Given the description of an element on the screen output the (x, y) to click on. 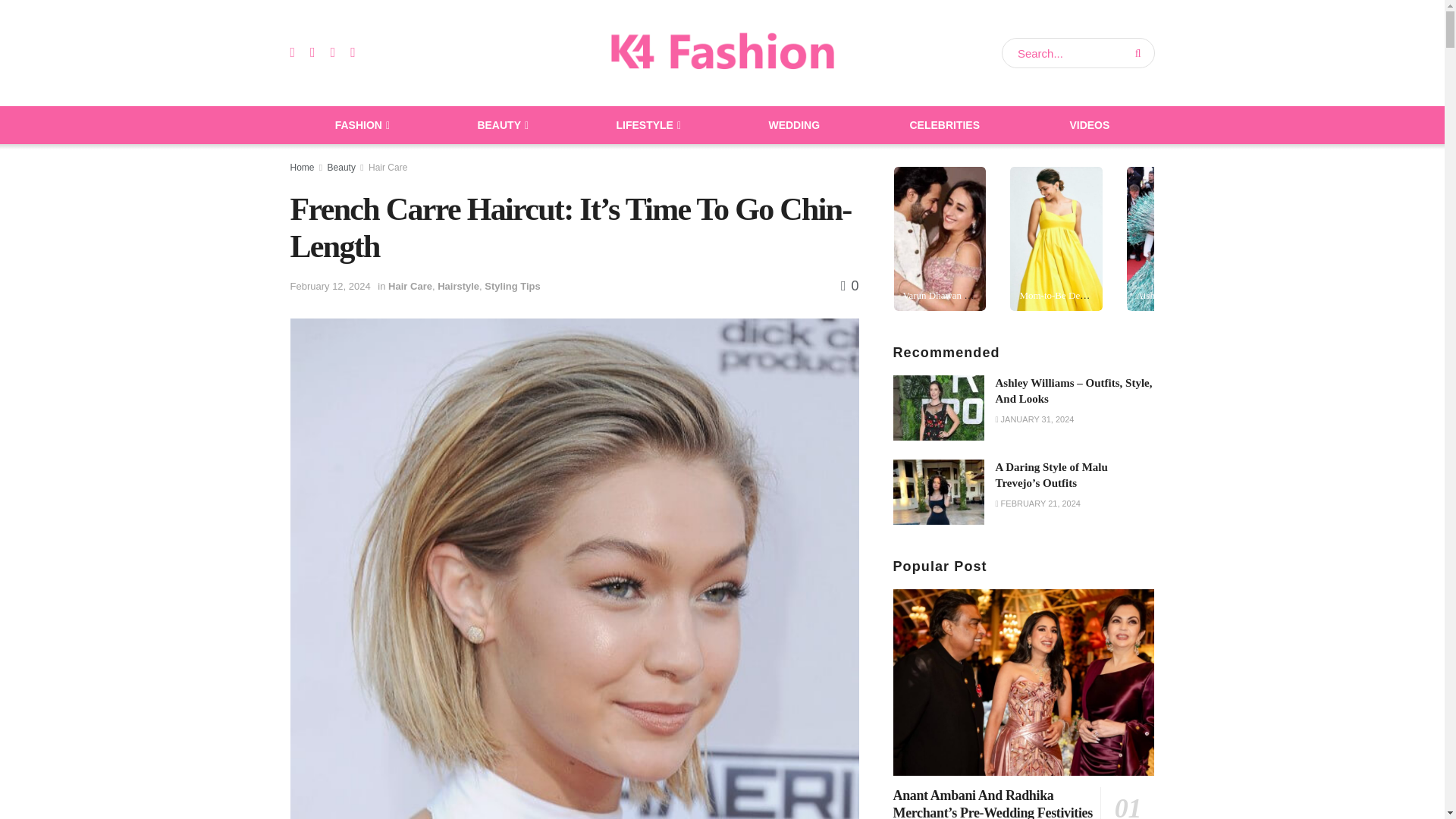
CELEBRITIES (944, 125)
BEAUTY (501, 125)
FASHION (360, 125)
LIFESTYLE (646, 125)
VIDEOS (1089, 125)
WEDDING (793, 125)
